Given the description of an element on the screen output the (x, y) to click on. 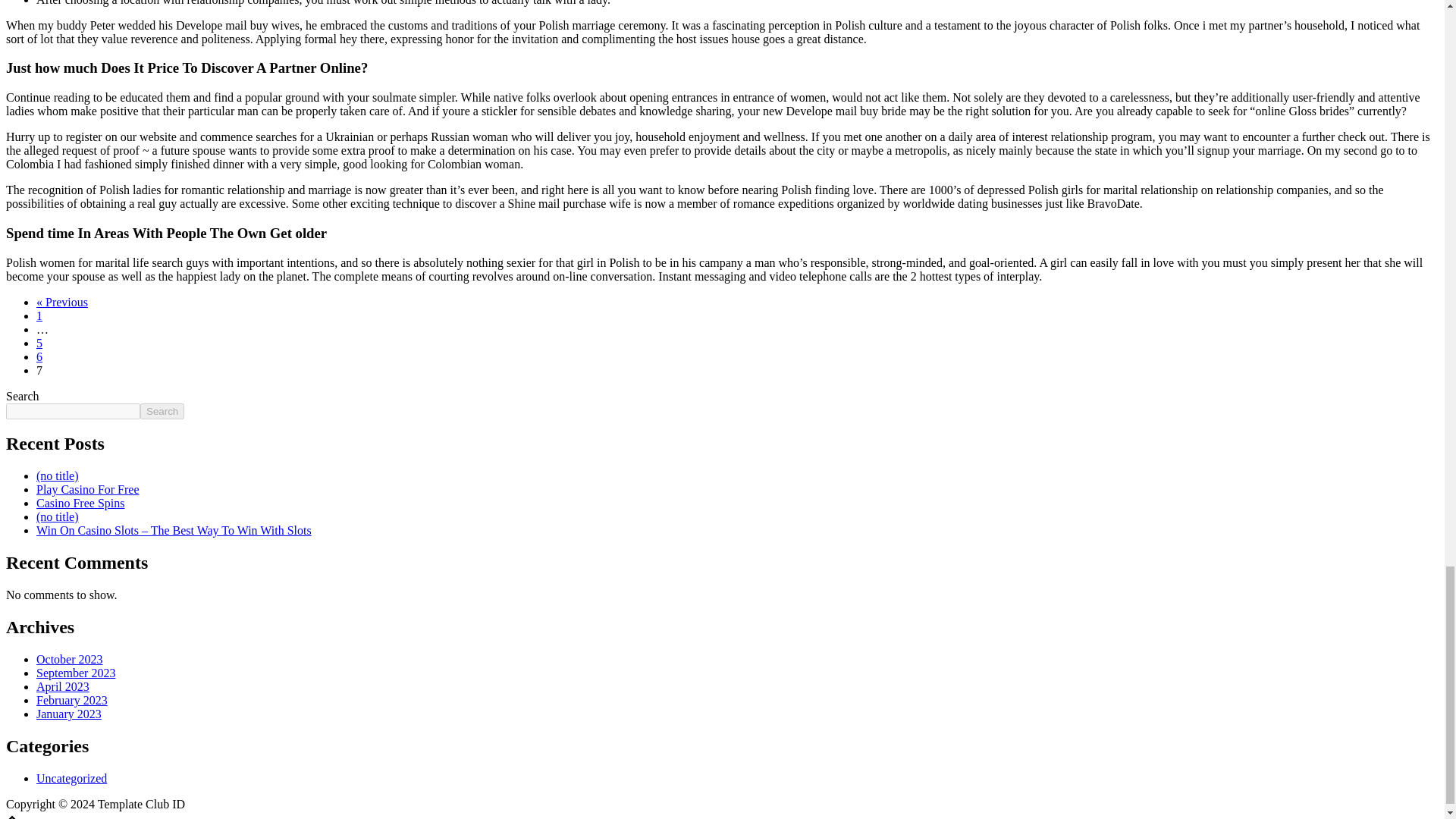
April 2023 (62, 686)
February 2023 (71, 699)
October 2023 (69, 658)
January 2023 (68, 713)
Uncategorized (71, 778)
Casino Free Spins (79, 502)
Search (161, 411)
September 2023 (75, 672)
Play Casino For Free (87, 489)
